Given the description of an element on the screen output the (x, y) to click on. 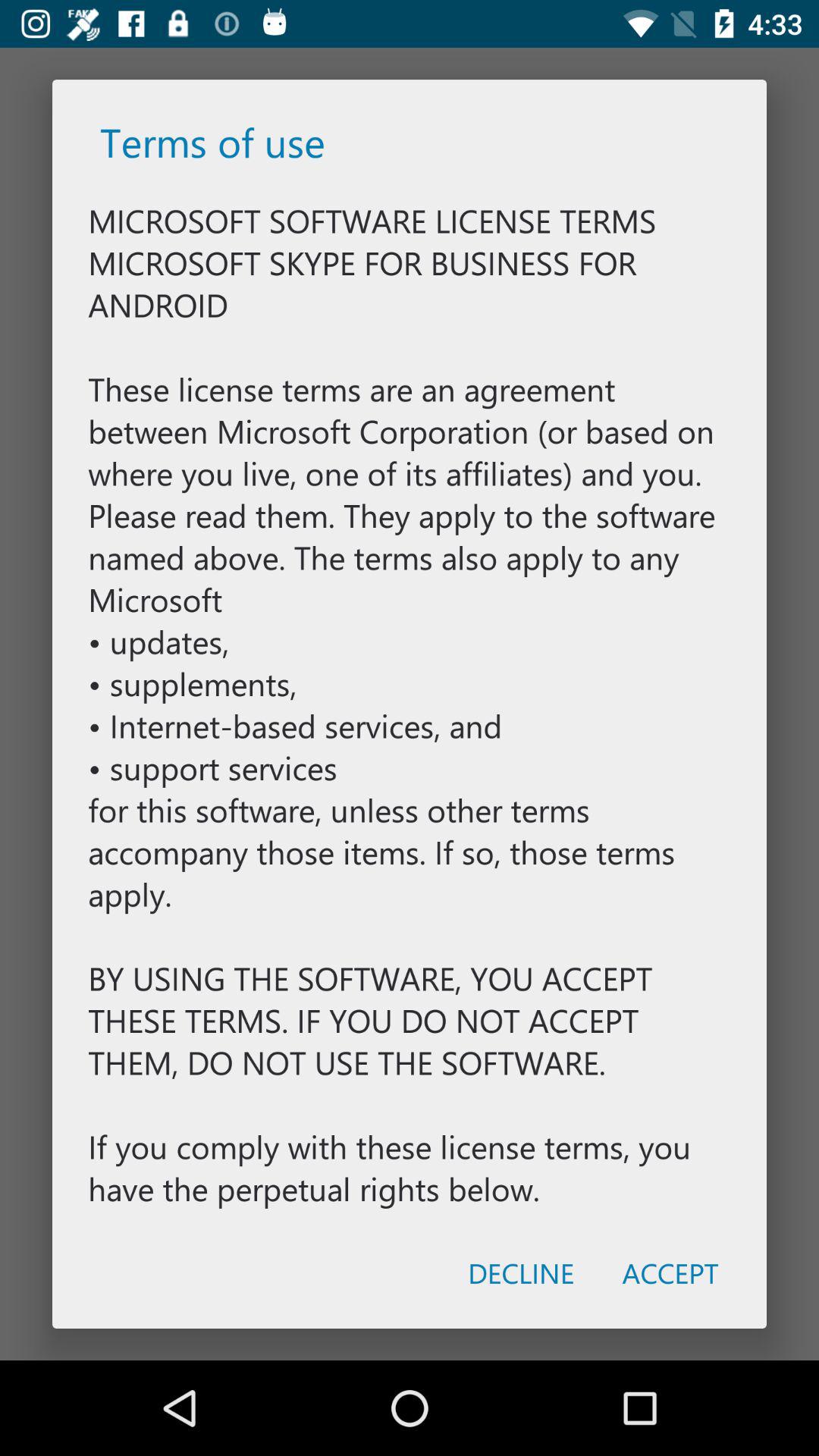
choose the icon at the bottom right corner (670, 1272)
